Given the description of an element on the screen output the (x, y) to click on. 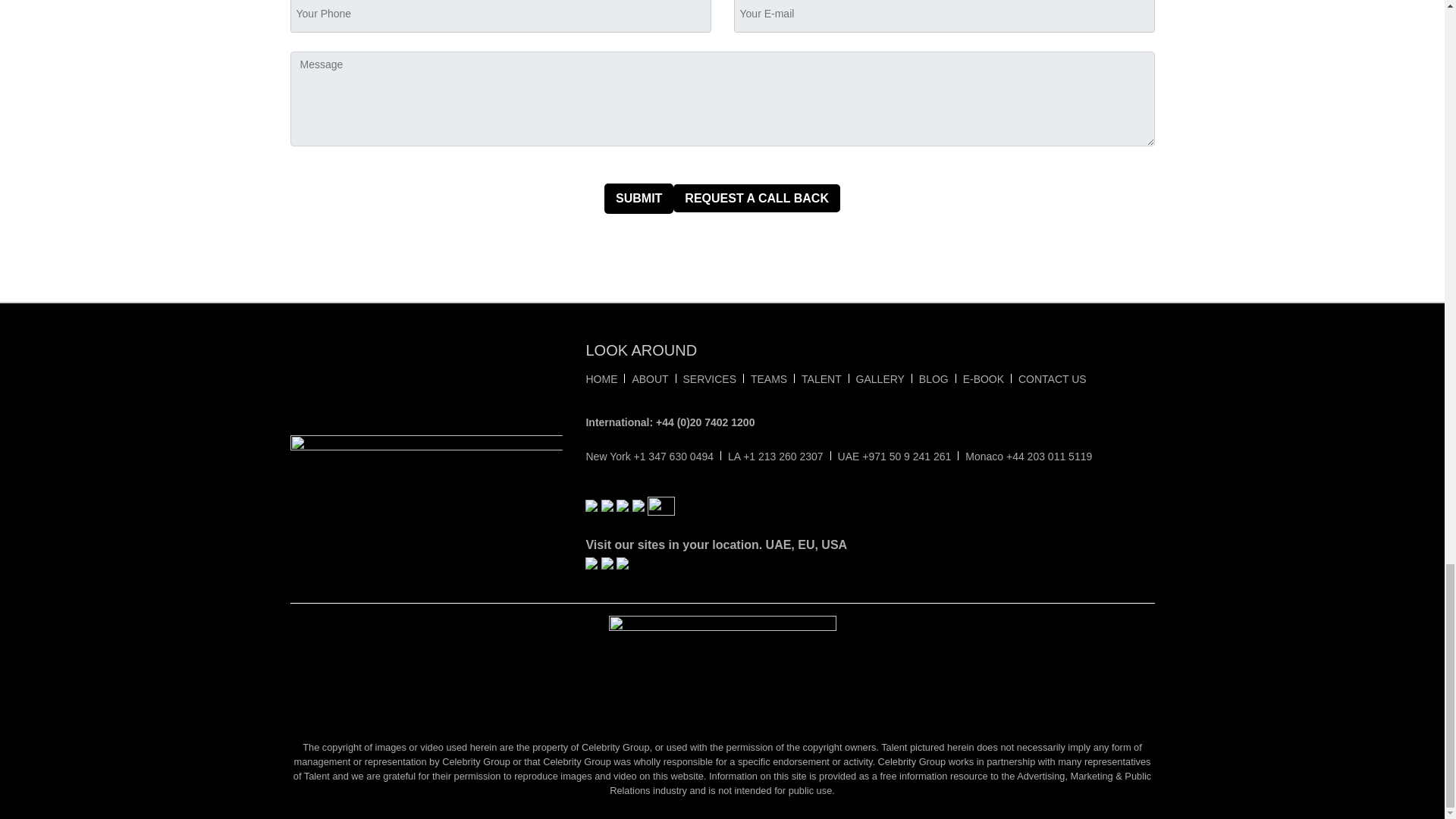
SUBMIT (638, 198)
